Given the description of an element on the screen output the (x, y) to click on. 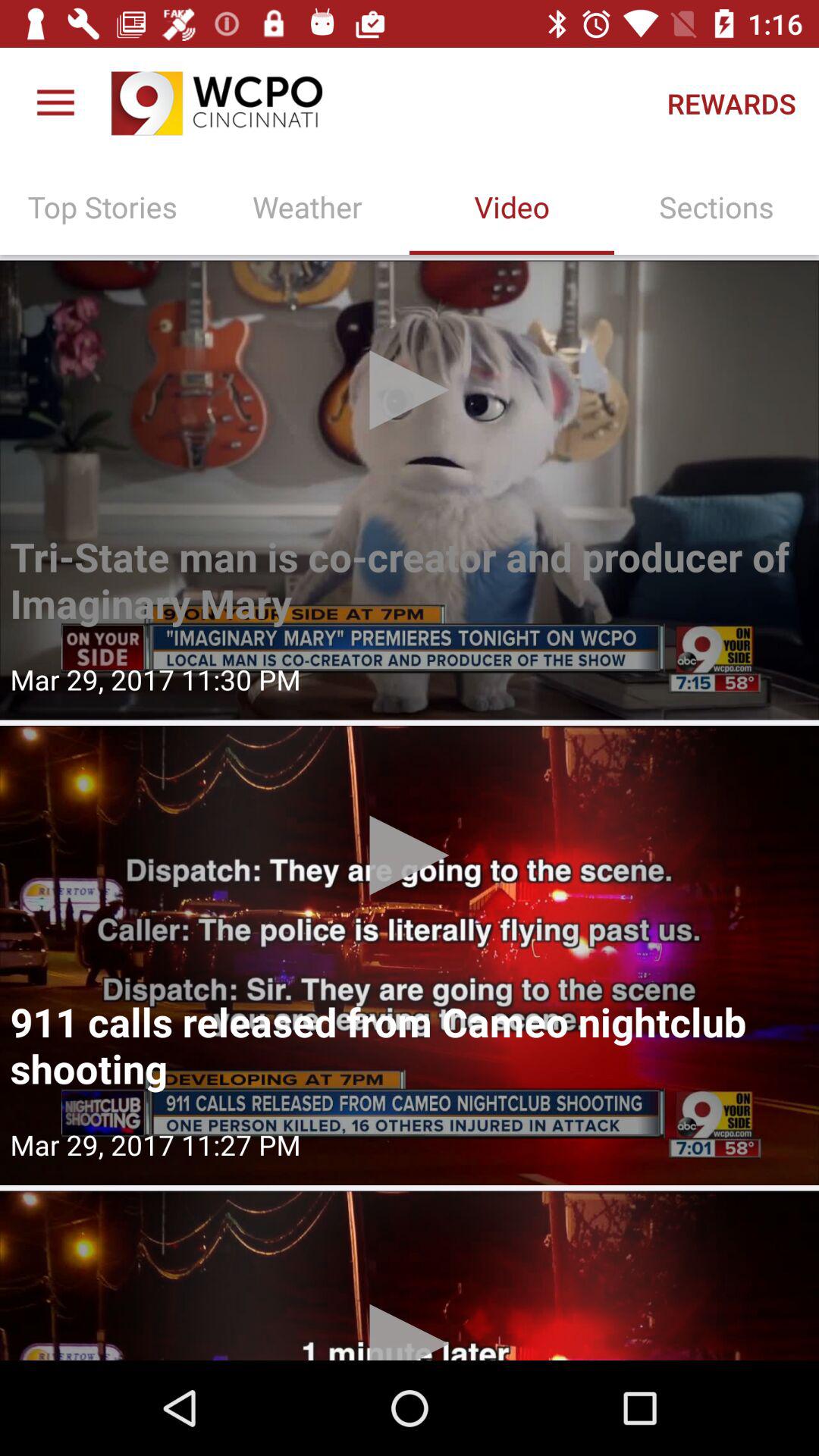
open video (409, 1275)
